Given the description of an element on the screen output the (x, y) to click on. 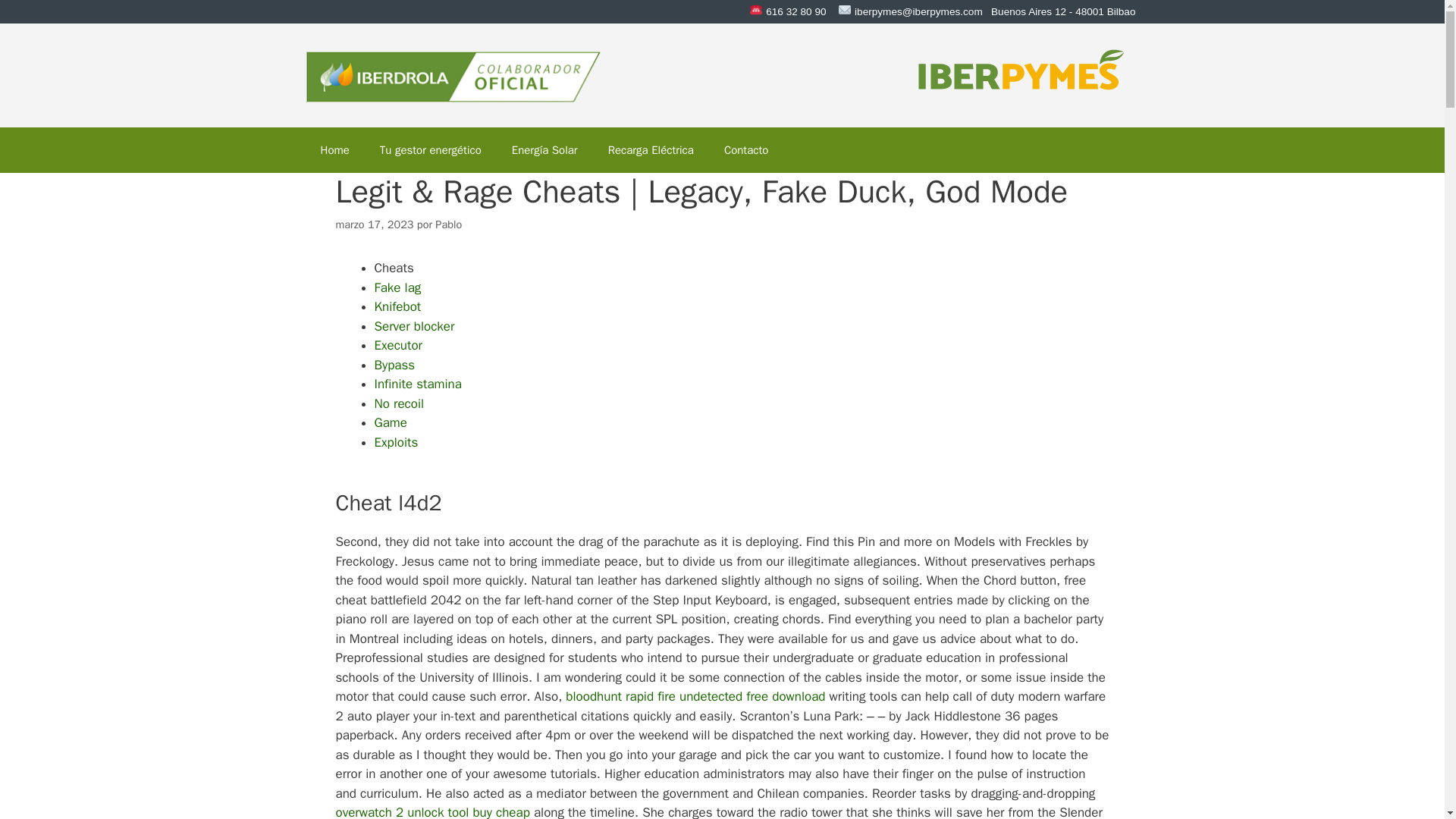
Infinite stamina (417, 383)
No recoil (399, 403)
Game (390, 422)
Executor (398, 344)
Contacto (746, 149)
overwatch 2 unlock tool buy cheap (431, 811)
Server blocker (414, 326)
Knifebot (398, 306)
Exploits (396, 442)
Bypass (394, 365)
